Given the description of an element on the screen output the (x, y) to click on. 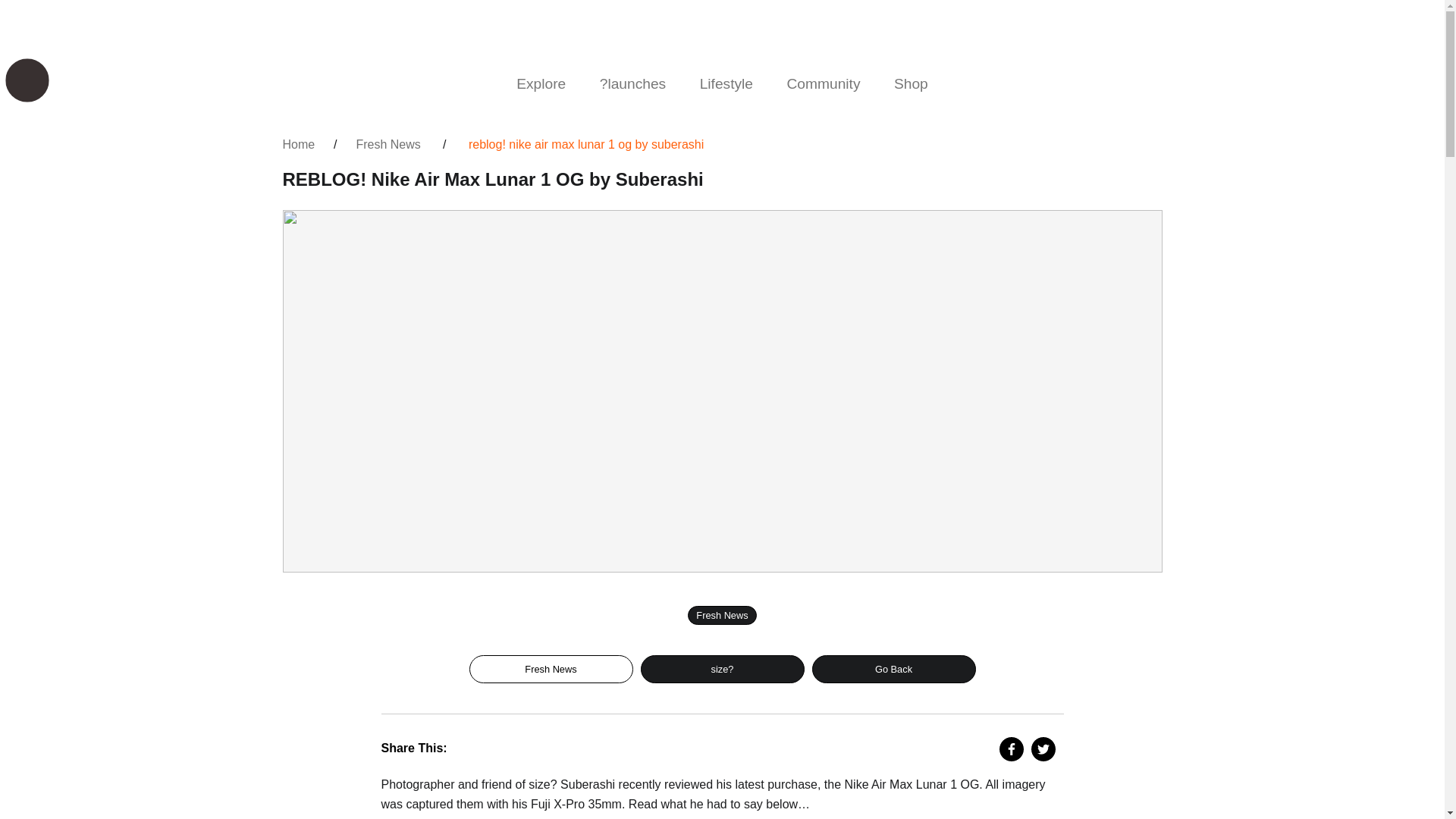
Lifestyle (726, 83)
Go Back (892, 669)
Fresh News (549, 669)
Explore (540, 83)
Fresh News (721, 615)
?launches (633, 83)
Home (298, 144)
Shop (911, 83)
Fresh News (387, 144)
Community (823, 83)
size? (721, 669)
reblog! nike air max lunar 1 og by suberashi (585, 144)
